Given the description of an element on the screen output the (x, y) to click on. 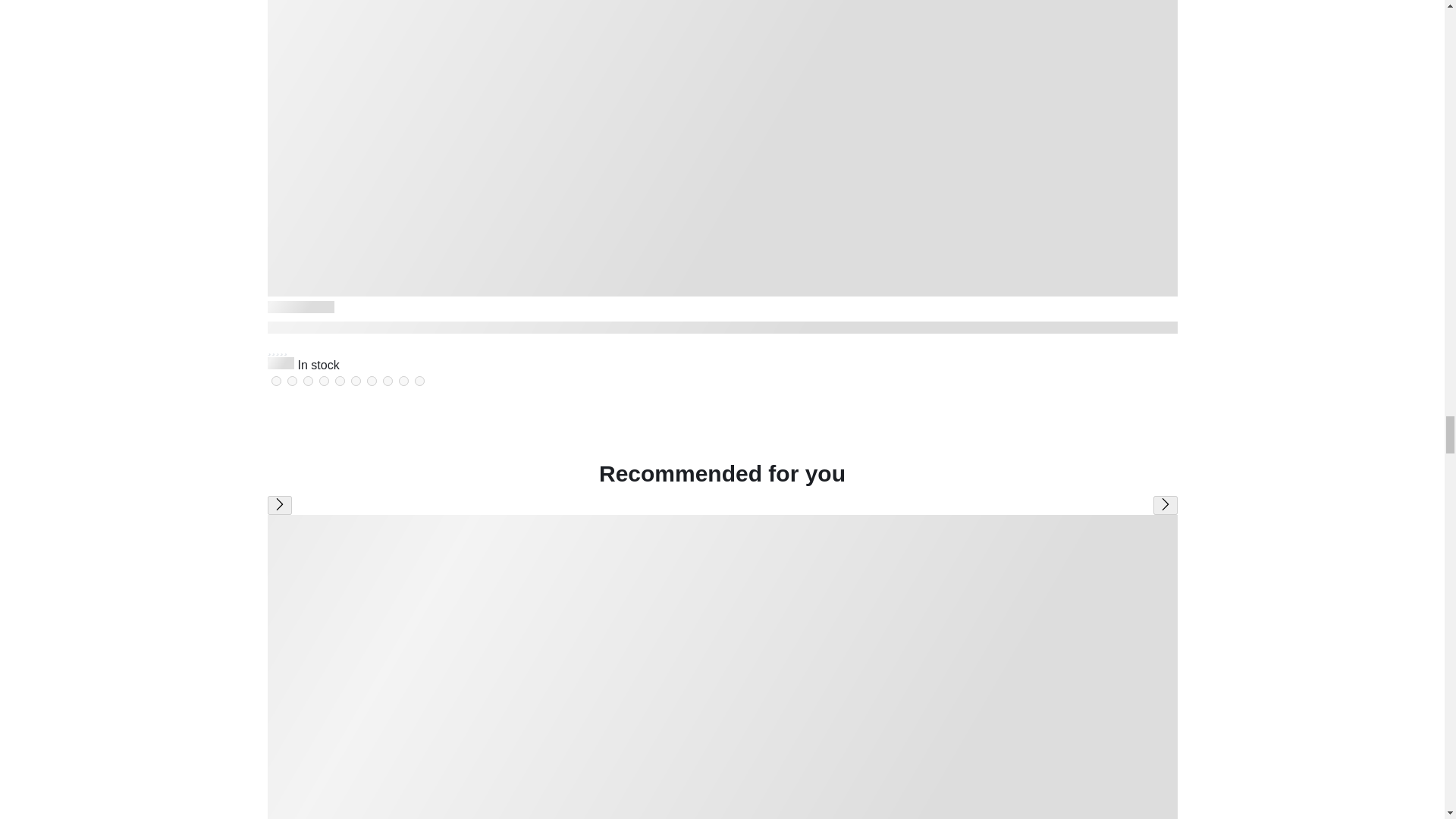
on (339, 380)
on (307, 380)
on (371, 380)
on (354, 380)
on (386, 380)
on (323, 380)
on (291, 380)
on (418, 380)
on (403, 380)
on (275, 380)
